Given the description of an element on the screen output the (x, y) to click on. 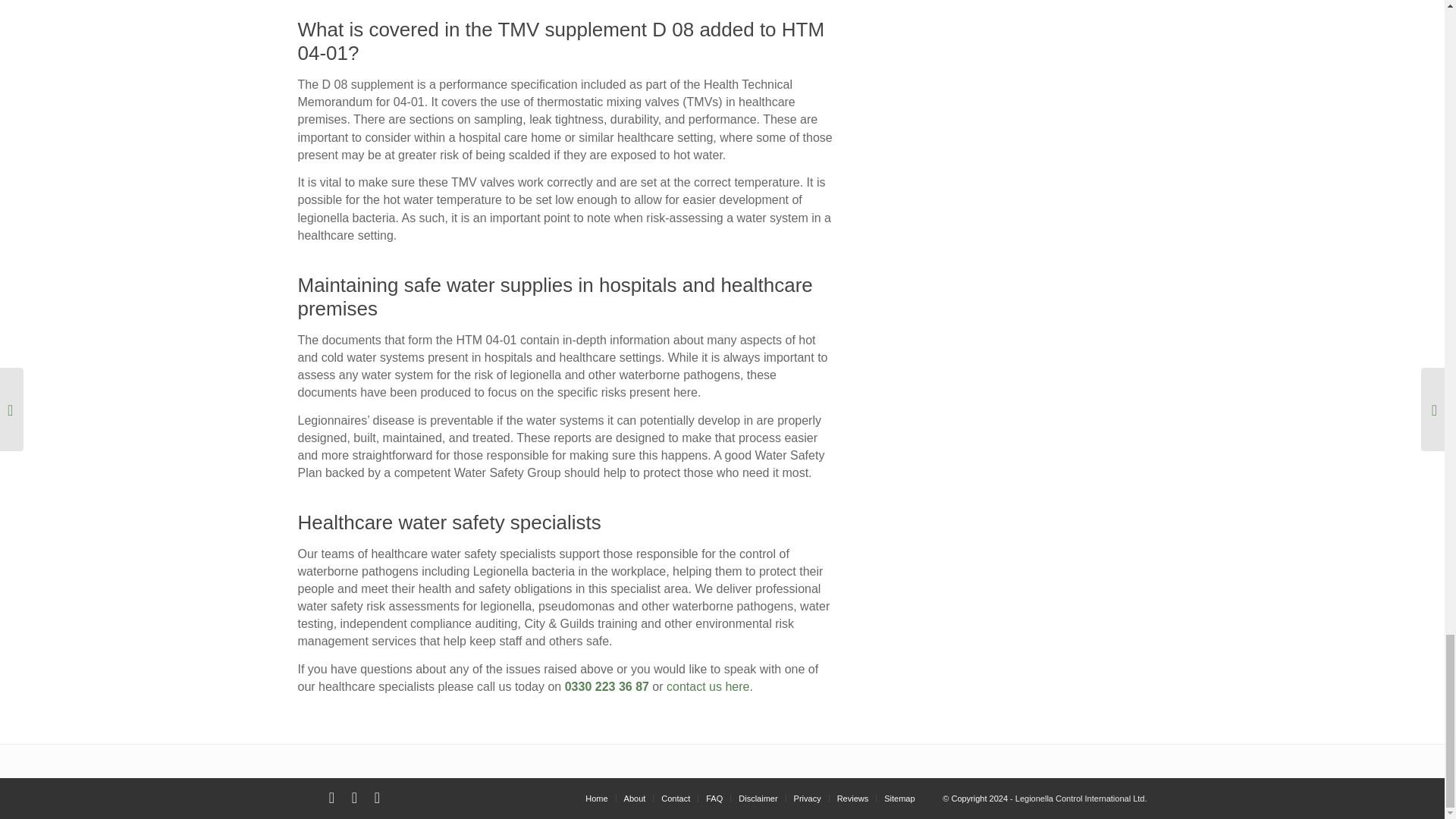
Facebook (353, 797)
contact us here (707, 686)
Twitter (331, 797)
contact us (707, 686)
